Given the description of an element on the screen output the (x, y) to click on. 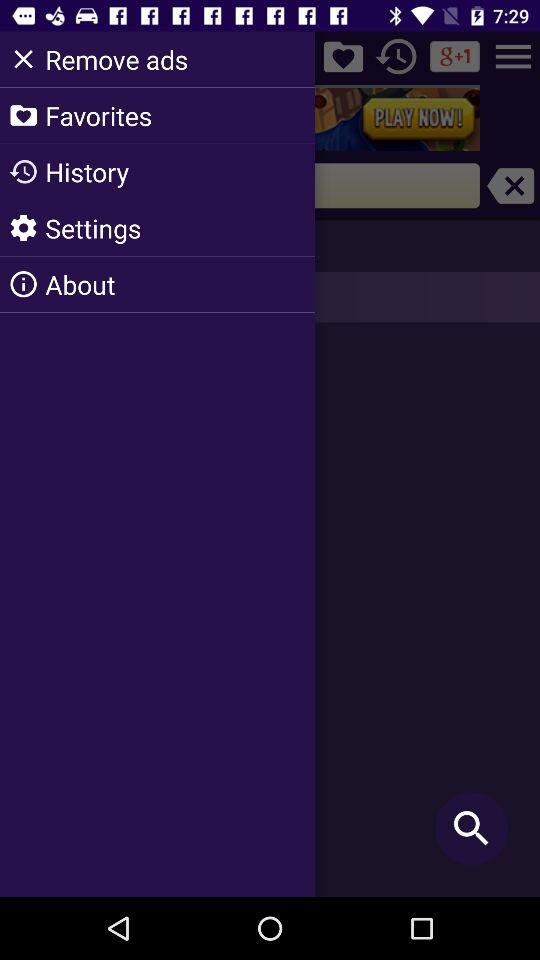
click the icon right to remove ads (343, 56)
click the icon just below to bluetooth icon (396, 56)
